Given the description of an element on the screen output the (x, y) to click on. 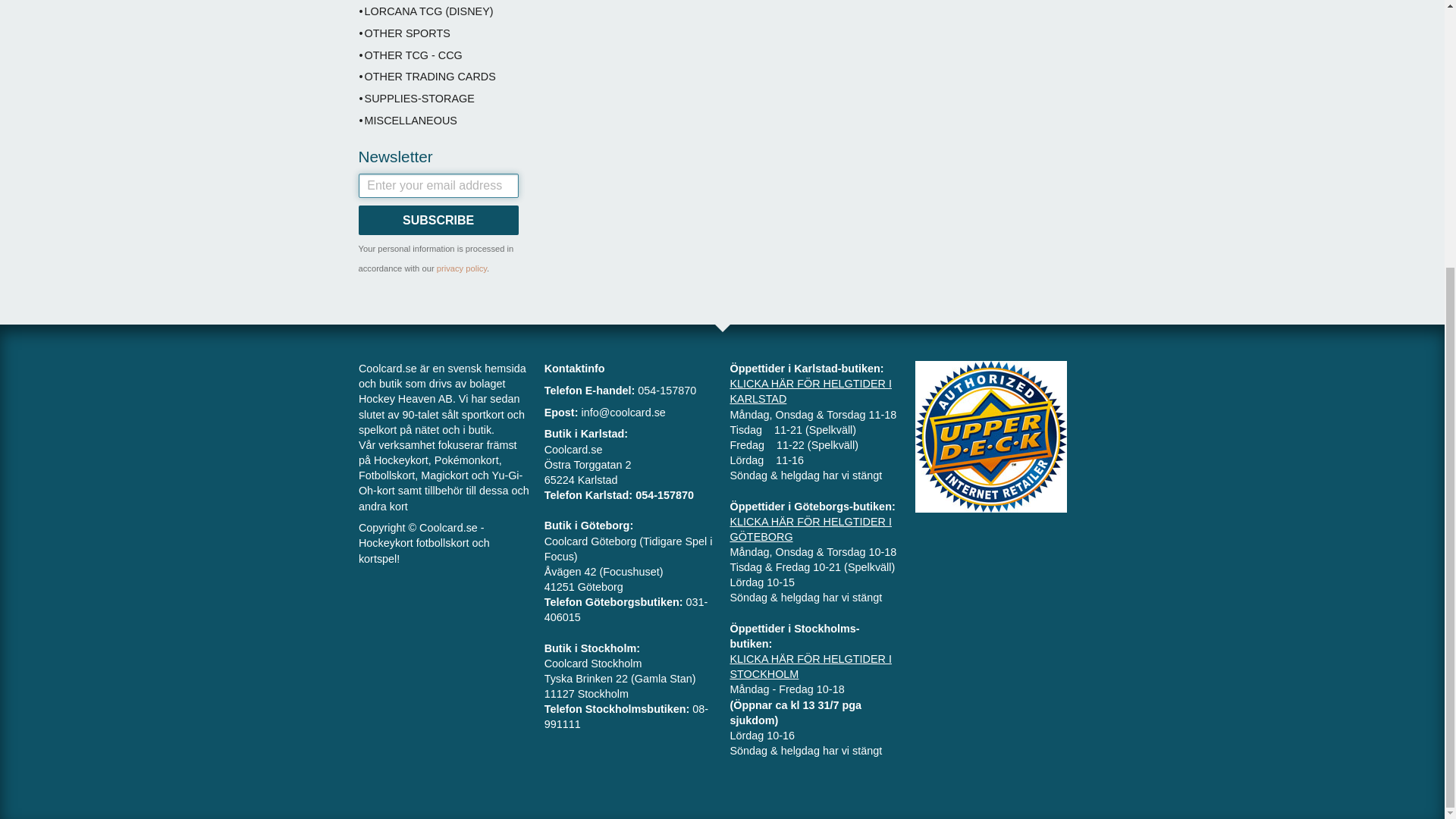
OTHER SPORTS (438, 34)
